Given the description of an element on the screen output the (x, y) to click on. 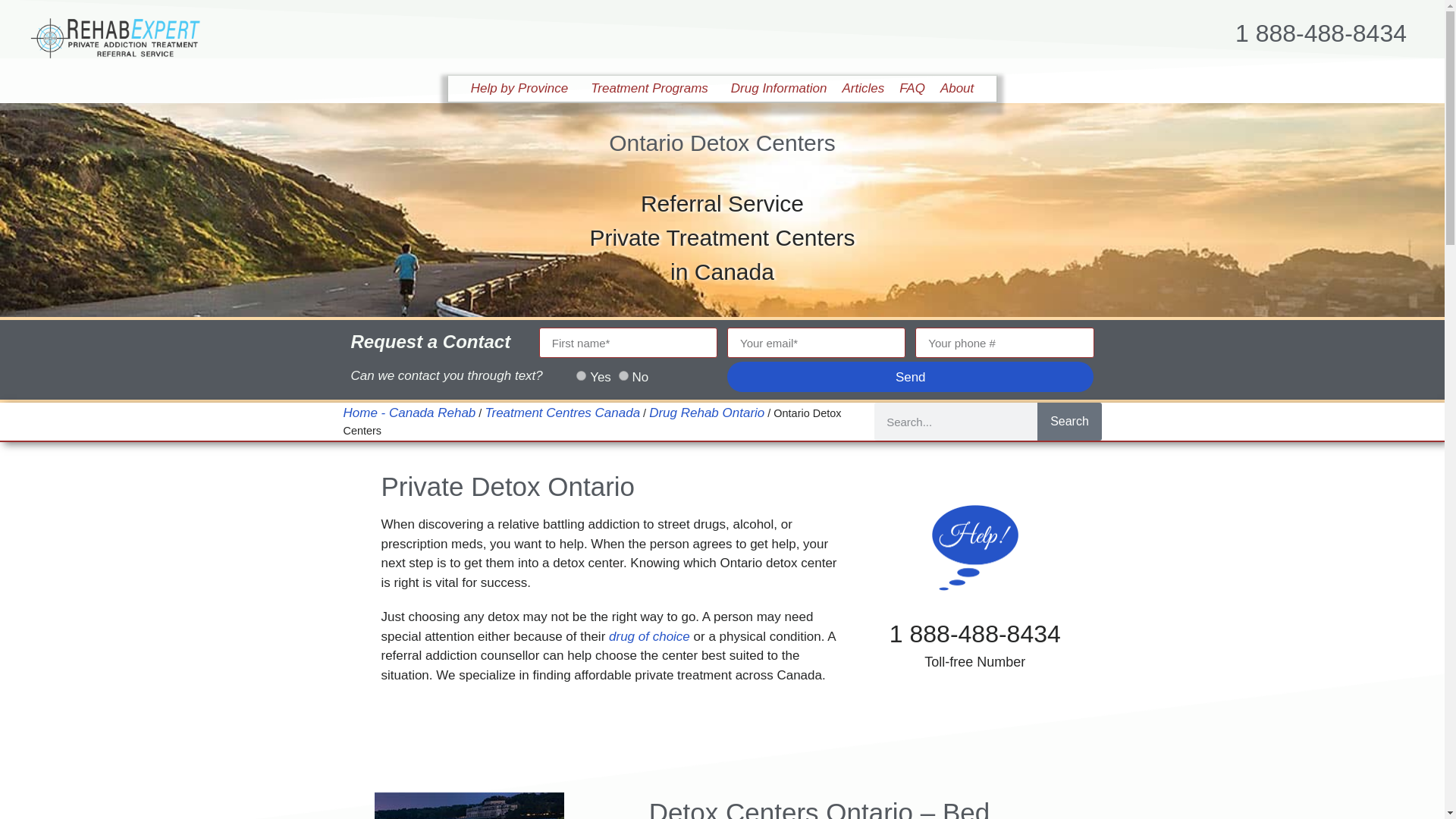
About (957, 88)
Help by Province (523, 88)
Articles (862, 88)
Treatment Programs (653, 88)
Yes (581, 375)
Drug Information (778, 88)
No (623, 375)
FAQ (912, 88)
